Given the description of an element on the screen output the (x, y) to click on. 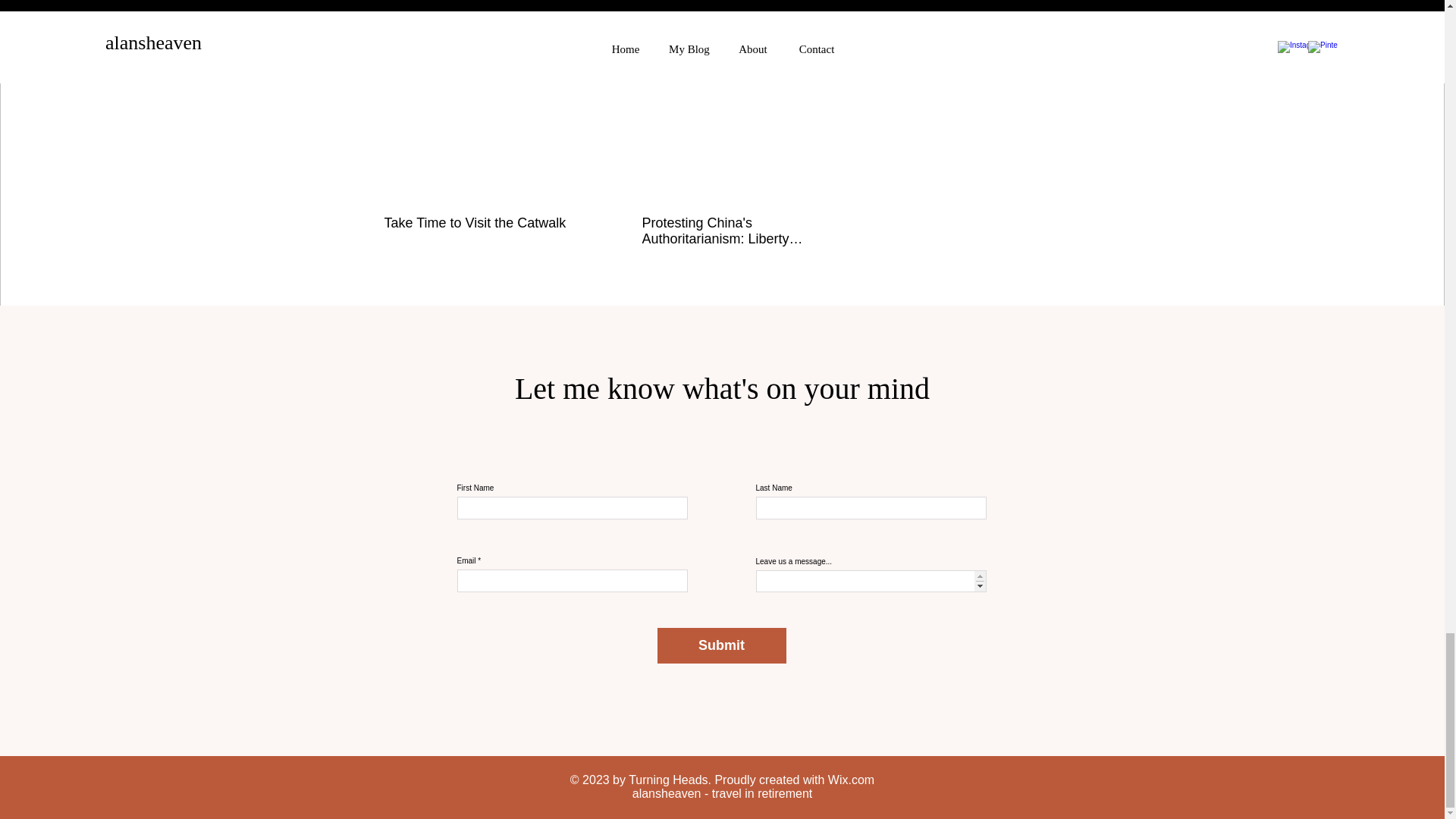
Take Time to Visit the Catwalk (481, 222)
Protesting China's Authoritarianism: Liberty Sculpture Park (739, 231)
See All (839, 40)
